Given the description of an element on the screen output the (x, y) to click on. 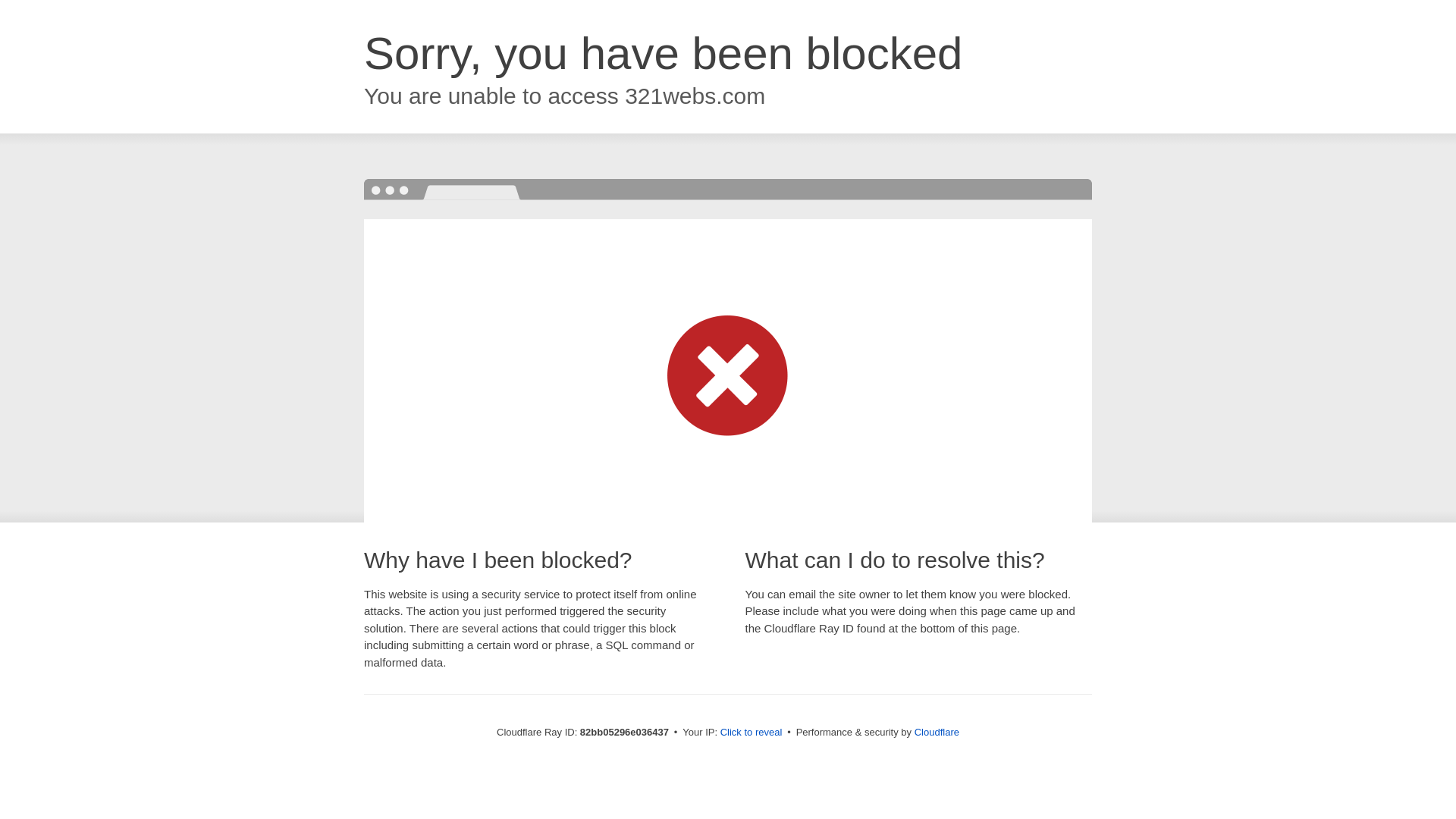
Click to reveal Element type: text (751, 732)
Cloudflare Element type: text (936, 731)
